Given the description of an element on the screen output the (x, y) to click on. 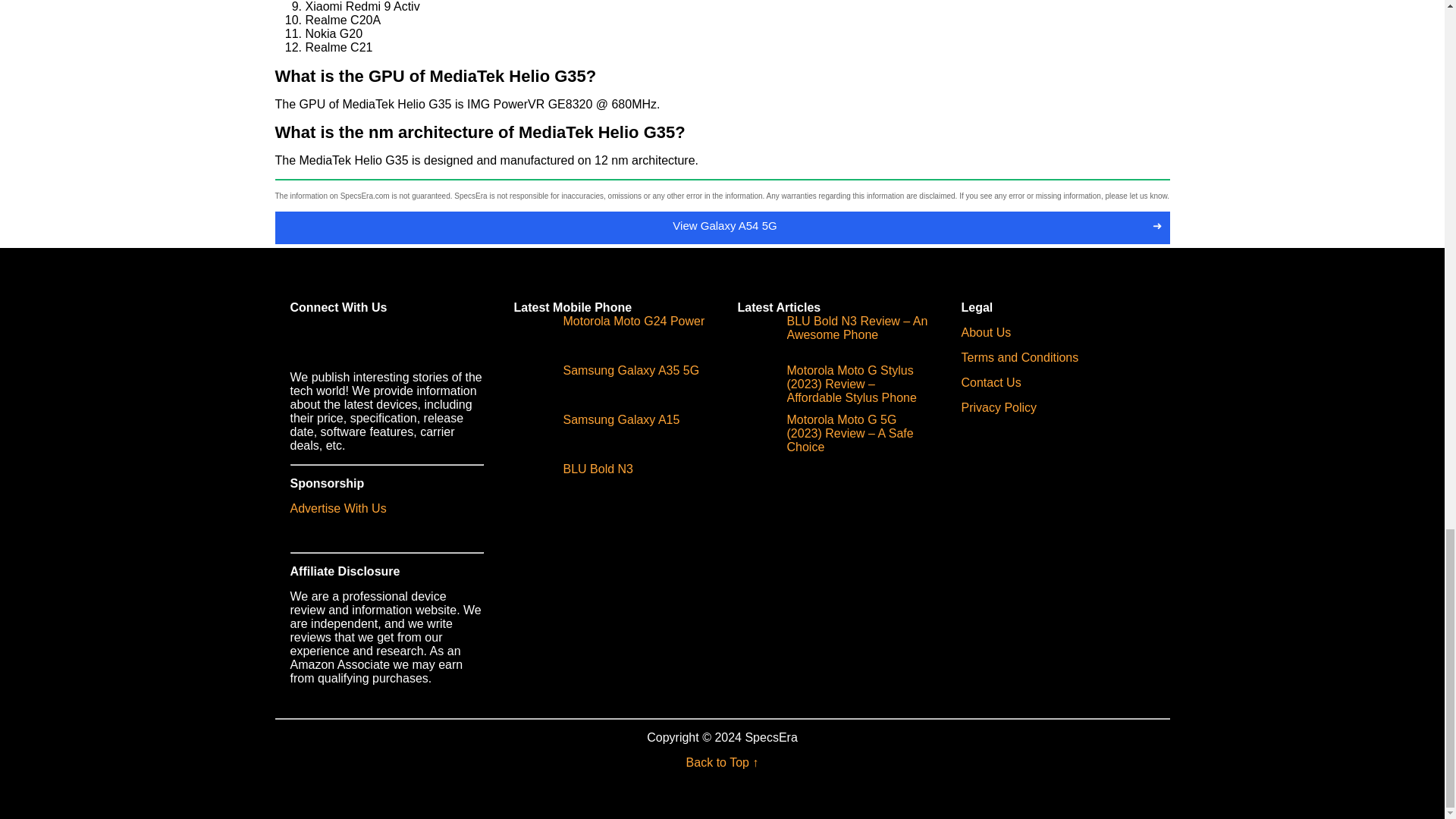
SpecsEra Facebook Page (304, 340)
Samsung Galaxy A35 5G (606, 388)
Motorola Moto G24 Power (608, 338)
Advertise With Us (337, 508)
Samsung Galaxy A15 (596, 436)
BLU Bold N3 (573, 486)
SpecsEra Twitter (335, 340)
SpecsEra Pinterest (395, 340)
SpecsEra Instagram (365, 340)
